Given the description of an element on the screen output the (x, y) to click on. 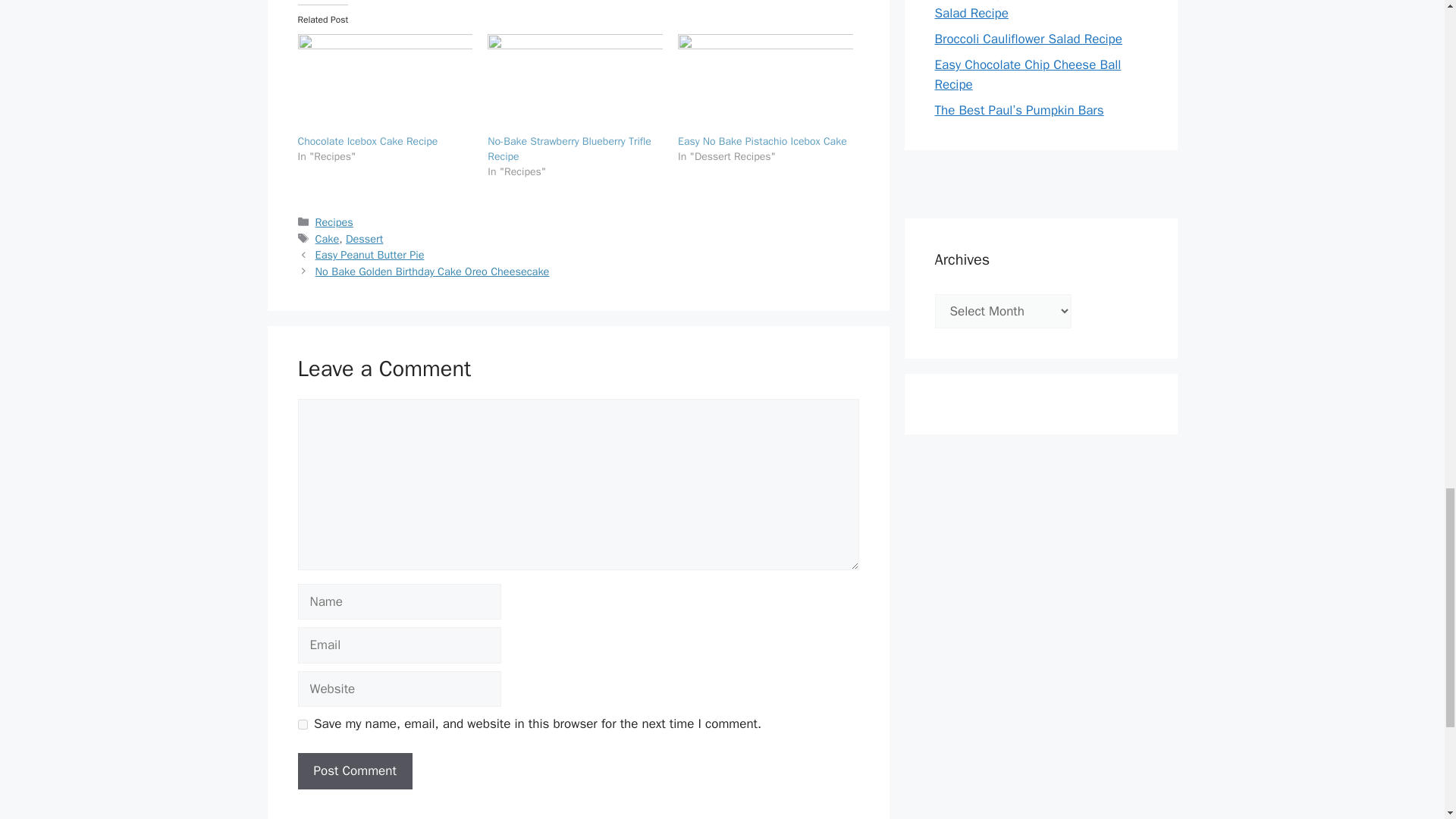
Chocolate Icebox Cake Recipe (384, 84)
Easy Chocolate Chip Cheese Ball Recipe (1027, 74)
Easy No Bake Pistachio Icebox Cake (762, 141)
Broccoli Cauliflower Salad Recipe (1027, 38)
Easy No Bake Pistachio Icebox Cake (765, 84)
Easy Peanut Butter Pie (370, 254)
Post Comment (354, 770)
Easy No Bake Pistachio Icebox Cake (762, 141)
yes (302, 724)
Cauliflower, Corn, and Cucumber Salad Recipe (1026, 11)
